Given the description of an element on the screen output the (x, y) to click on. 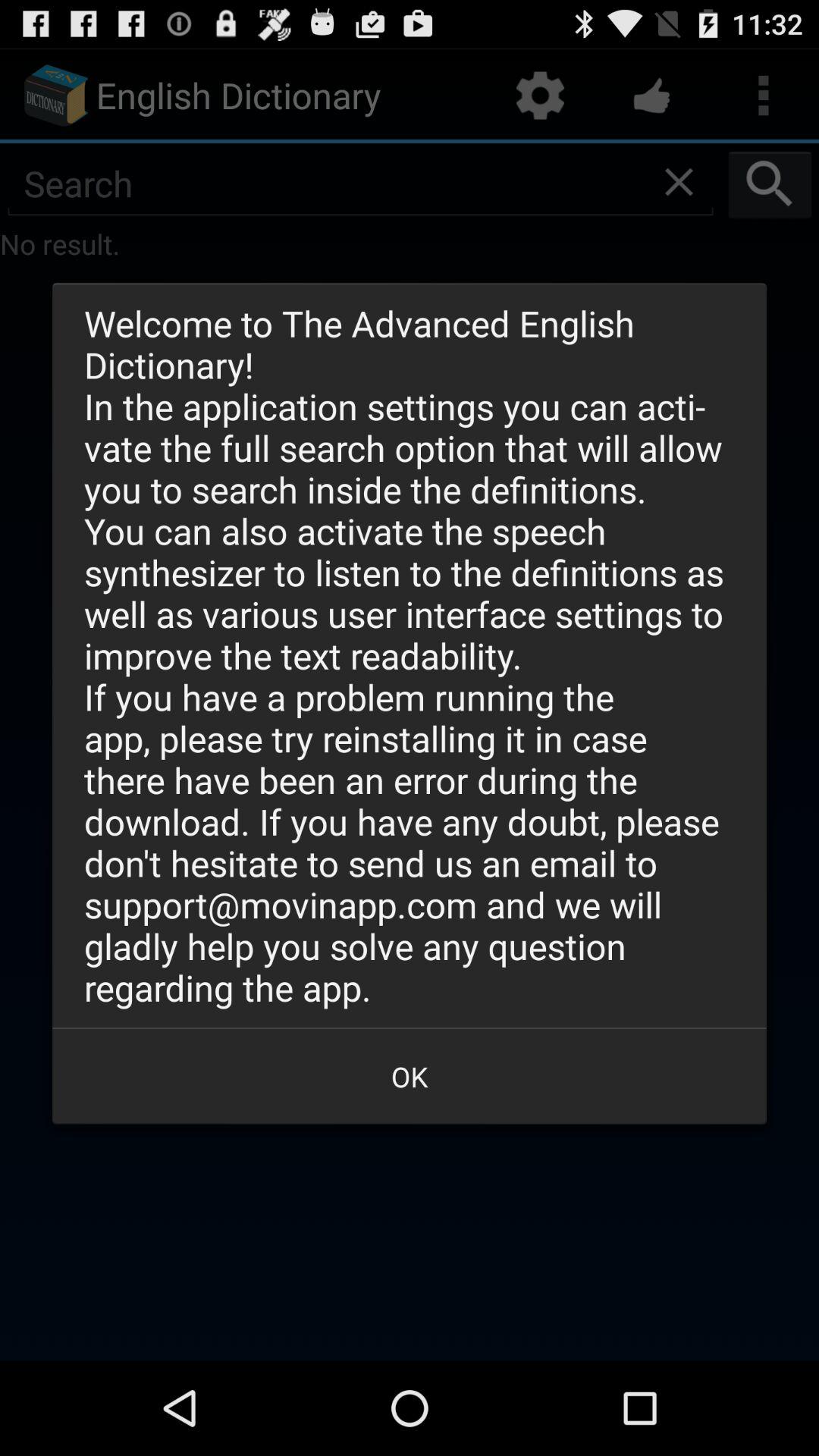
flip to the ok button (409, 1076)
